Given the description of an element on the screen output the (x, y) to click on. 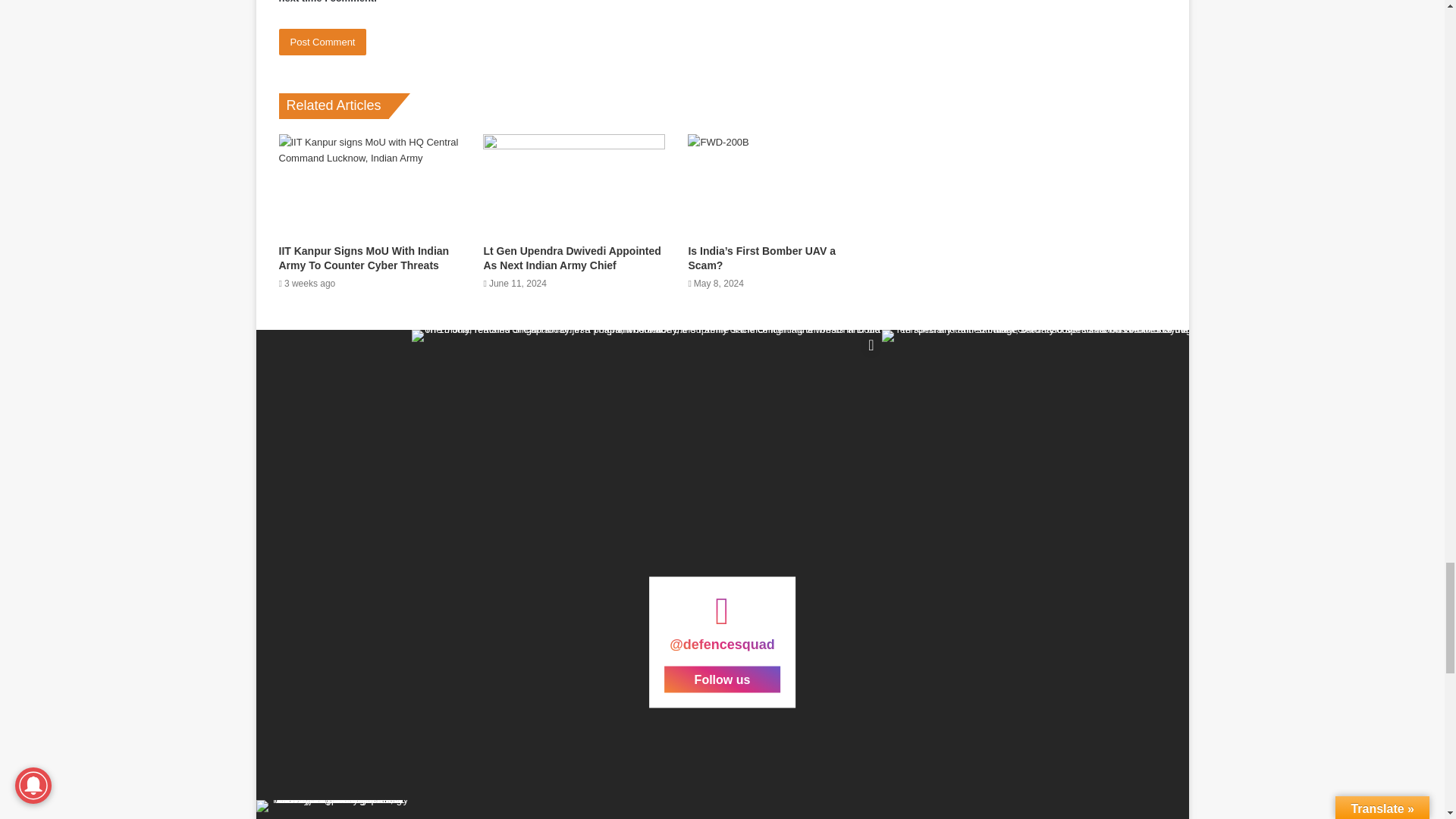
Post Comment (322, 41)
